Given the description of an element on the screen output the (x, y) to click on. 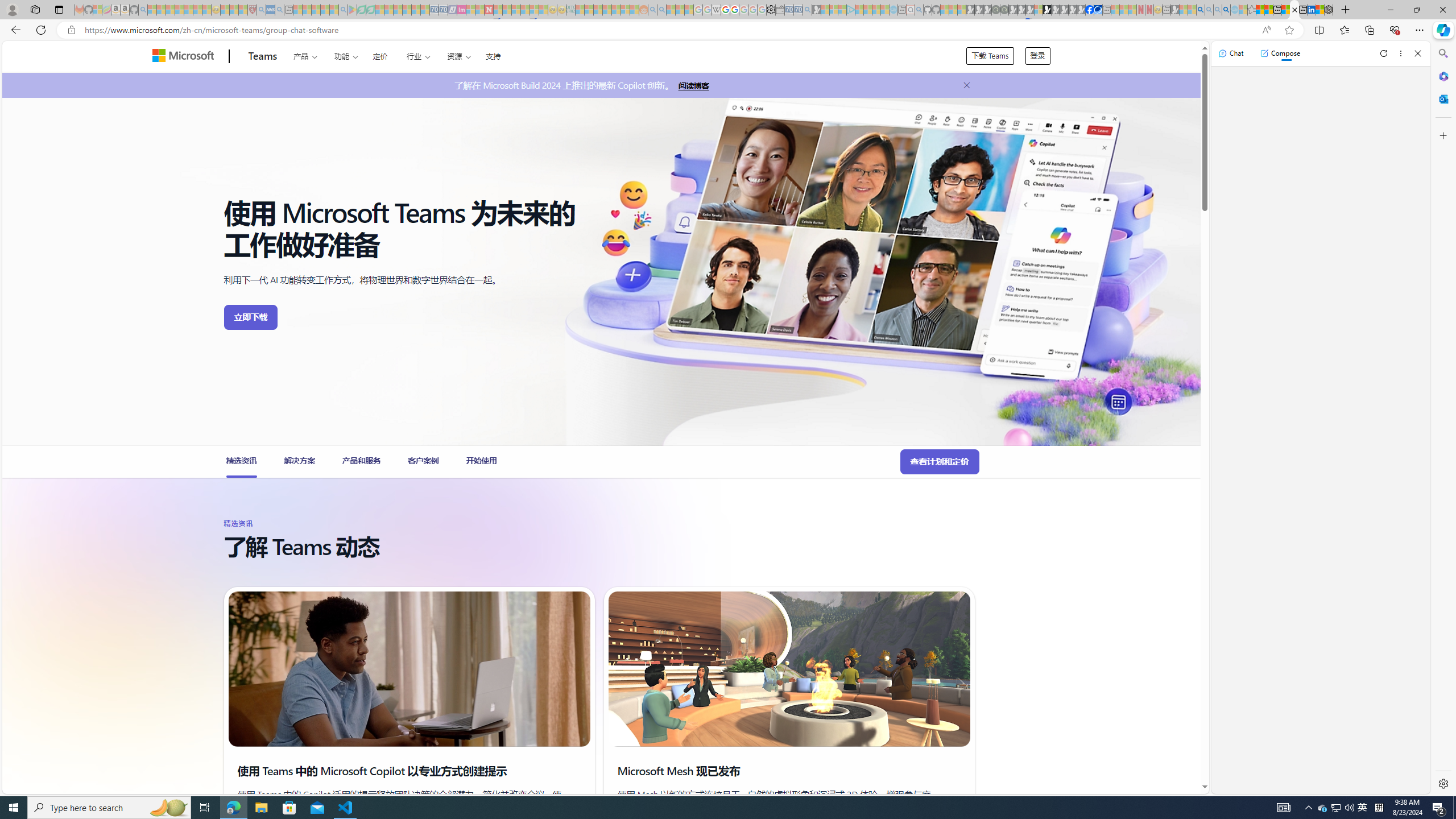
utah sues federal government - Search - Sleeping (279, 9)
Privacy Help Center - Policies Help (725, 9)
Terms of Use Agreement - Sleeping (361, 9)
Home | Sky Blue Bikes - Sky Blue Bikes - Sleeping (892, 9)
